Given the description of an element on the screen output the (x, y) to click on. 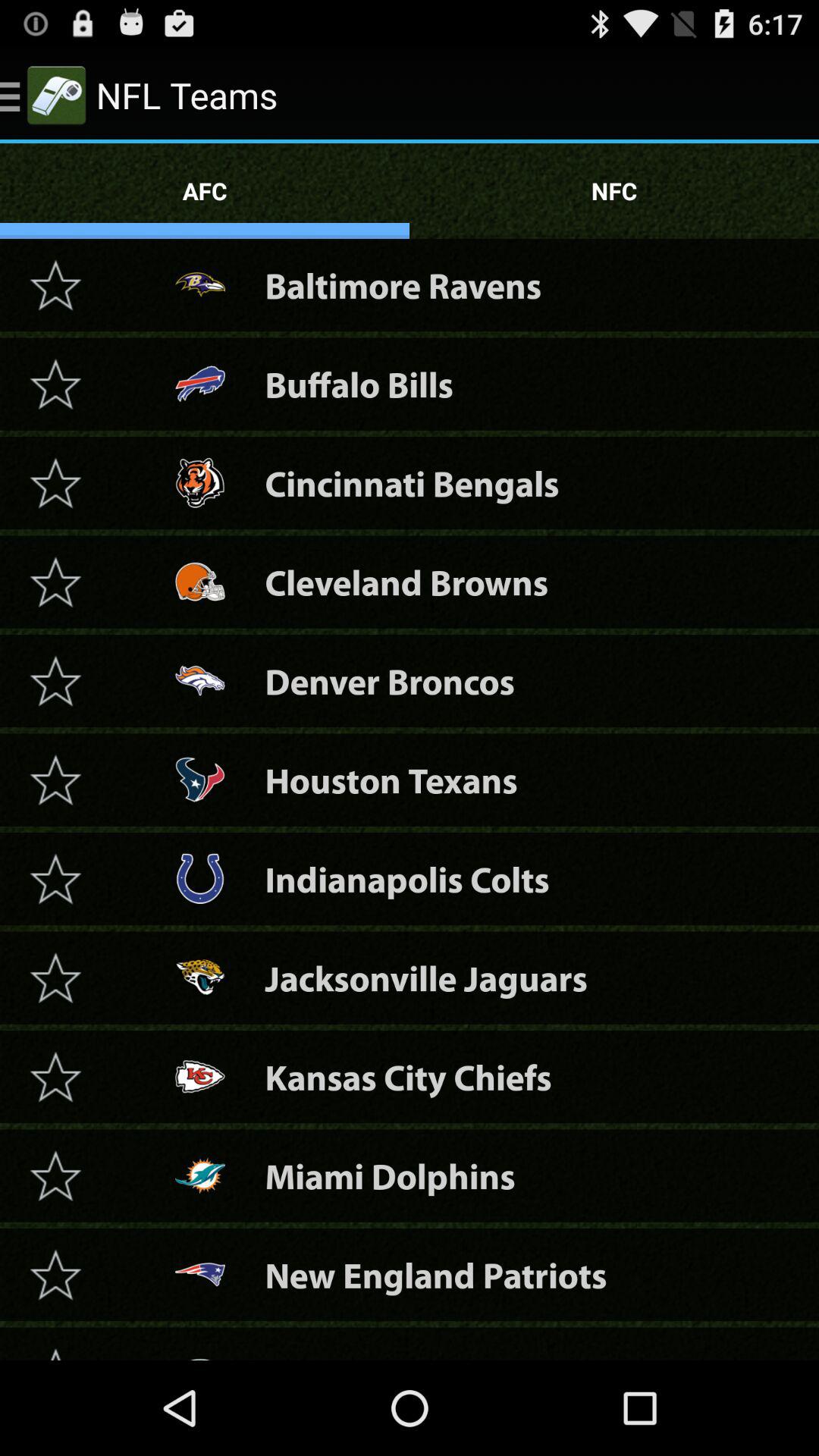
favorite team (55, 1348)
